Given the description of an element on the screen output the (x, y) to click on. 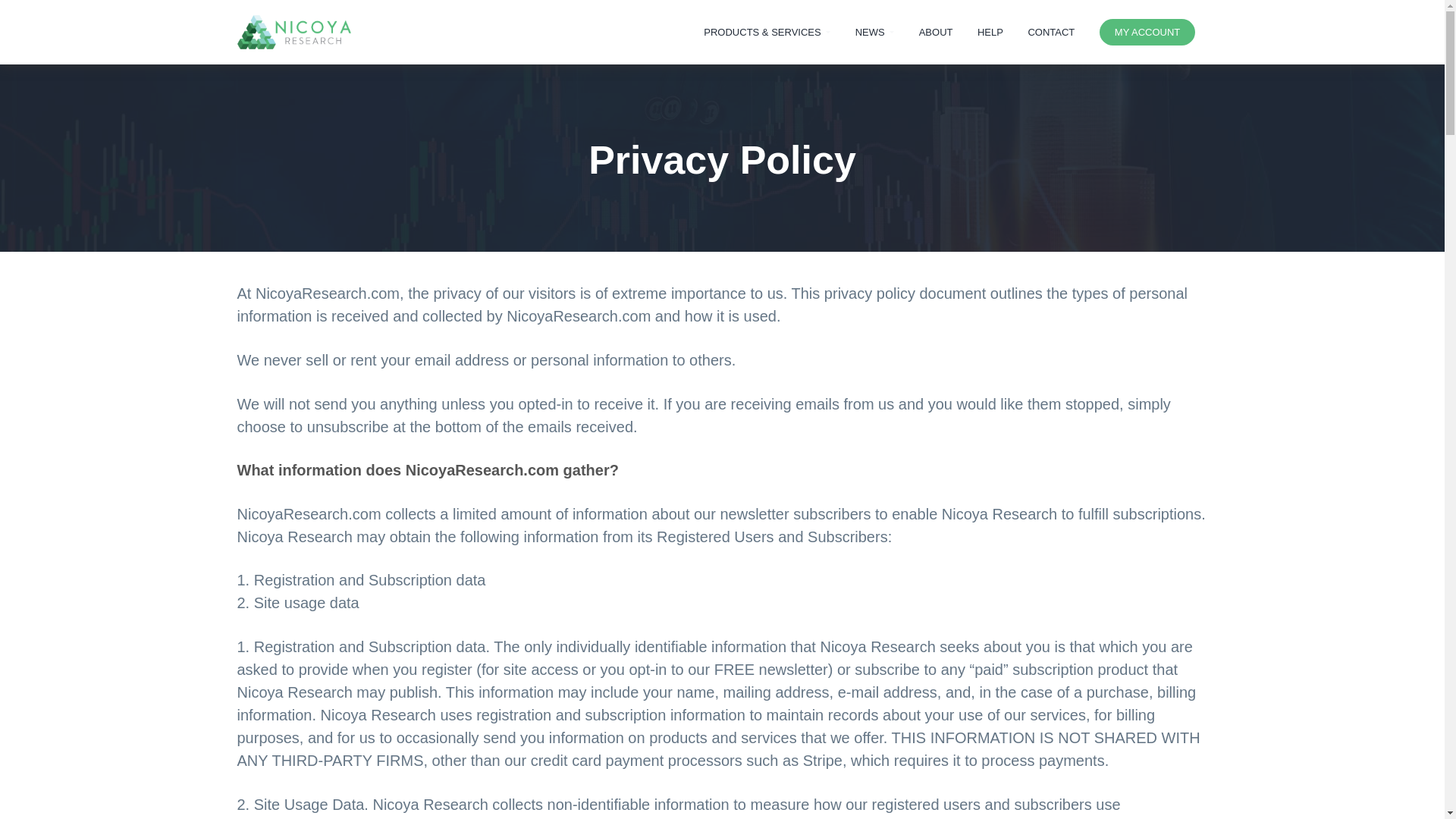
HELP (989, 31)
Nicoya Research (287, 55)
CONTACT (1050, 31)
NEWS (874, 31)
MY ACCOUNT (1147, 31)
ABOUT (934, 31)
